Given the description of an element on the screen output the (x, y) to click on. 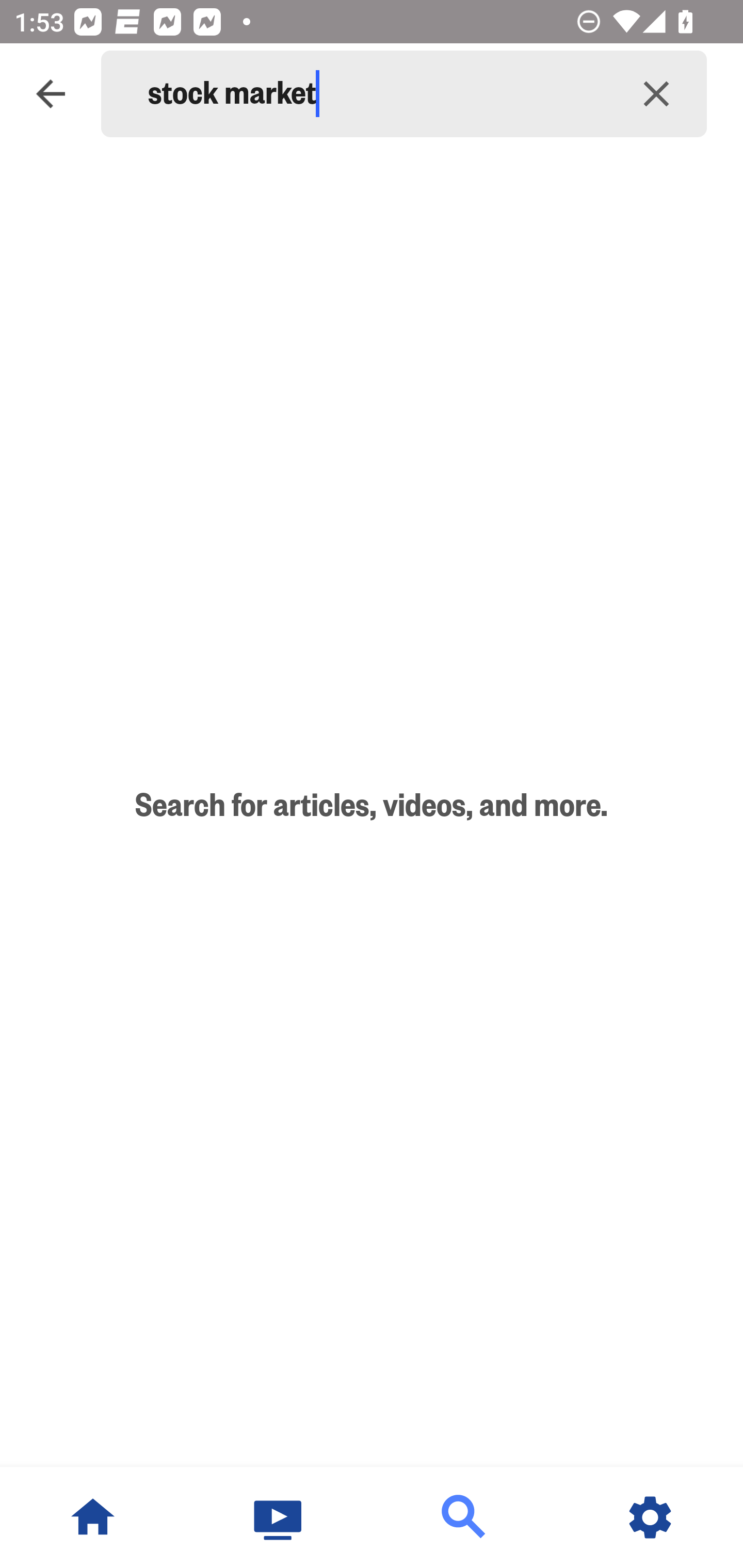
Navigate up (50, 93)
Clear query (656, 93)
stock market (376, 94)
NBC News Home (92, 1517)
Watch (278, 1517)
Settings (650, 1517)
